Given the description of an element on the screen output the (x, y) to click on. 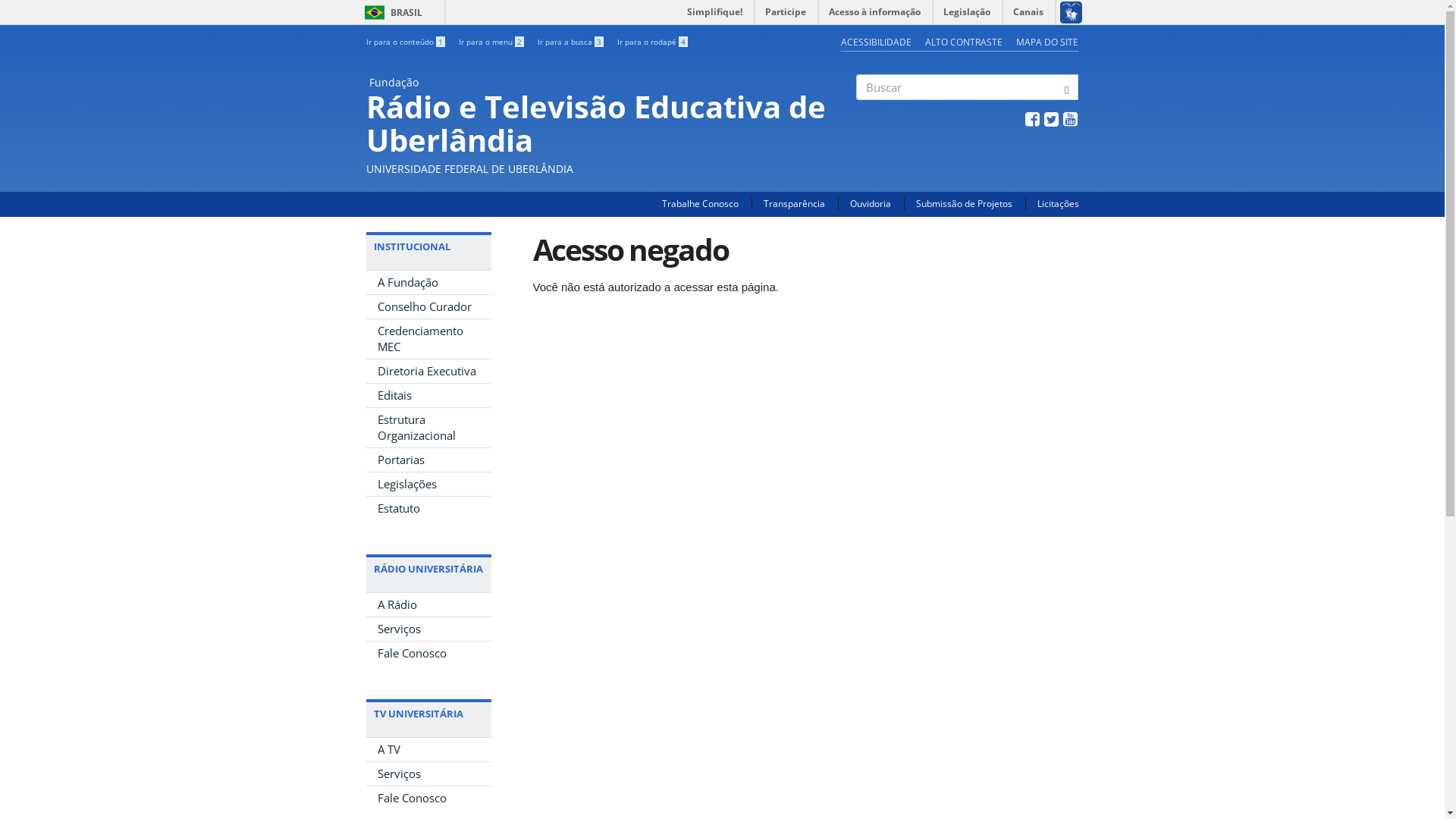
Buscar Element type: text (856, 112)
Ir para o menu 2 Element type: text (490, 41)
Ouvidoria Element type: text (869, 203)
MAPA DO SITE Element type: text (1047, 41)
BRASIL Element type: text (373, 12)
Diretoria Executiva Element type: text (427, 370)
Editais Element type: text (427, 395)
ALTO CONTRASTE Element type: text (963, 41)
Estatuto Element type: text (427, 508)
Ir para a busca 3 Element type: text (569, 41)
Fale Conosco Element type: text (427, 797)
Credenciamento MEC Element type: text (427, 338)
Trabalhe Conosco Element type: text (699, 203)
Estrutura Organizacional Element type: text (427, 427)
A TV Element type: text (427, 749)
ACESSIBILIDADE Element type: text (875, 41)
Portarias Element type: text (427, 459)
Conselho Curador Element type: text (427, 306)
Fale Conosco Element type: text (427, 653)
